Given the description of an element on the screen output the (x, y) to click on. 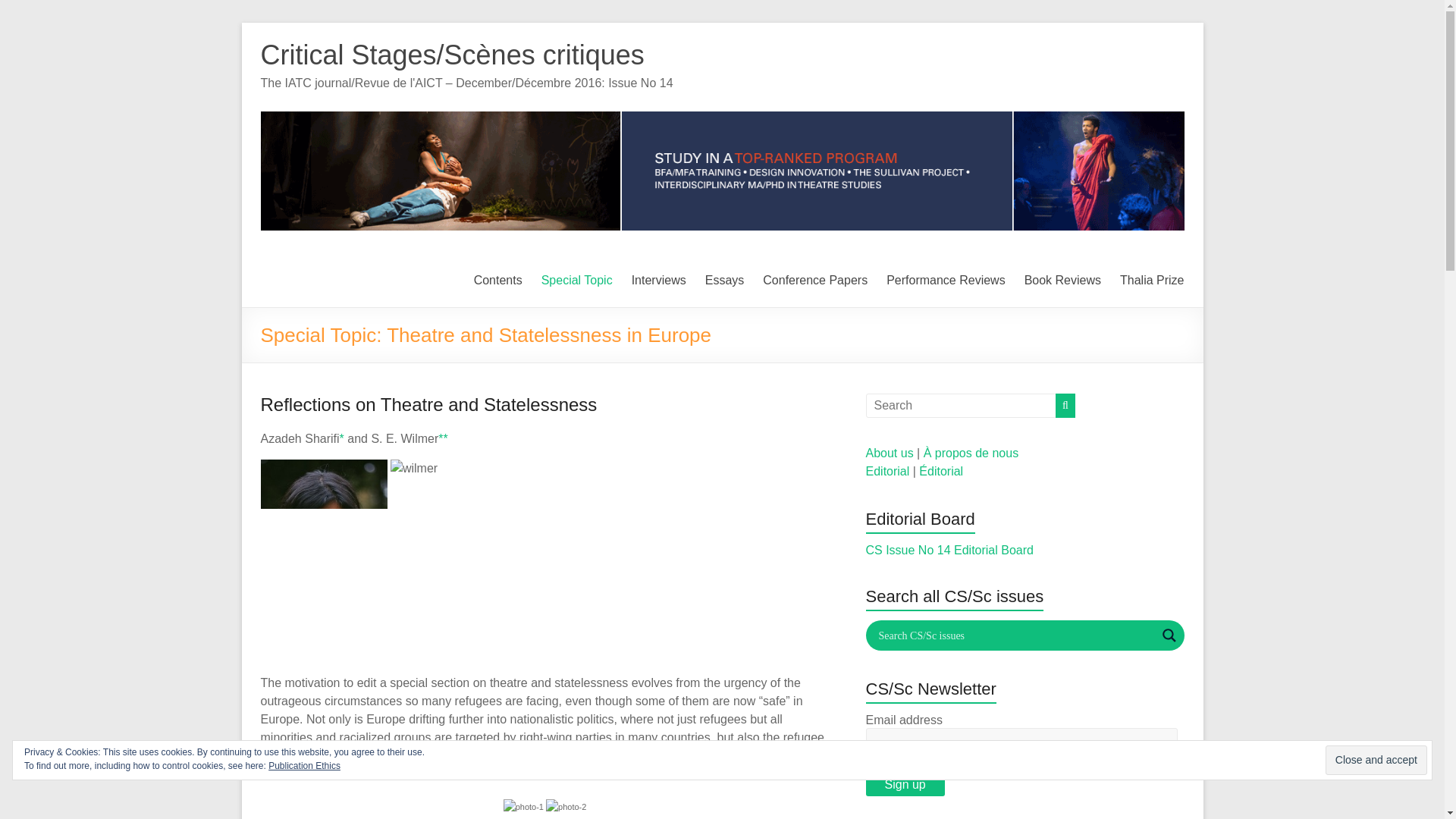
Special Topic (576, 280)
Thalia Prize (1151, 280)
Performance Reviews (946, 280)
Sign up (905, 784)
Contents (498, 280)
Conference Papers (814, 280)
Close and accept (1375, 759)
Interviews (658, 280)
Essays (724, 280)
